Given the description of an element on the screen output the (x, y) to click on. 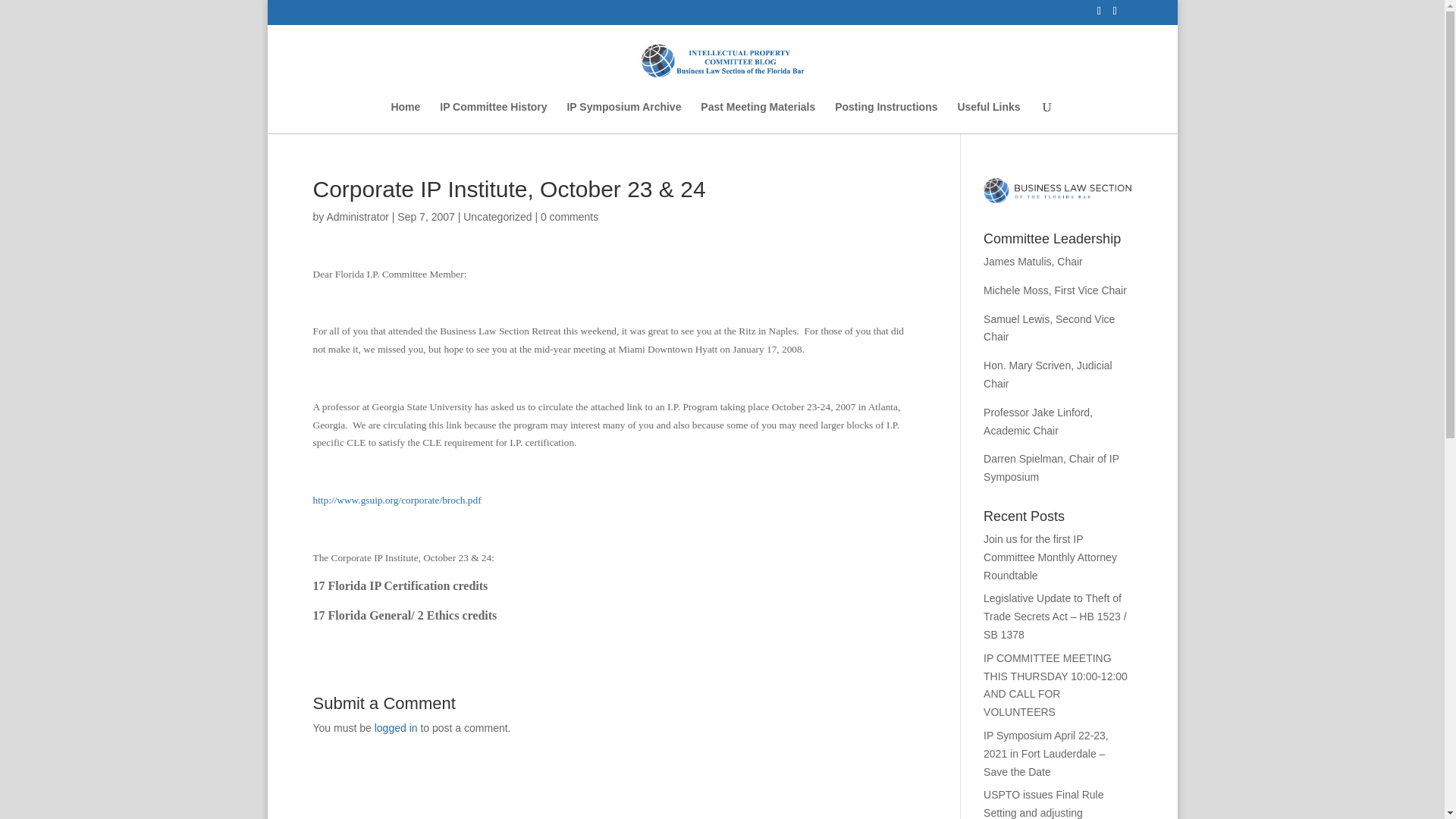
Posting Instructions (885, 117)
0 comments (569, 216)
James Matulis, Chair (1033, 261)
Administrator (357, 216)
Hon. Mary Scriven, Judicial Chair (1048, 374)
Darren Spielman, Chair of IP Symposium (1051, 467)
Samuel Lewis, Second Vice Chair (1049, 327)
Home (405, 117)
